Given the description of an element on the screen output the (x, y) to click on. 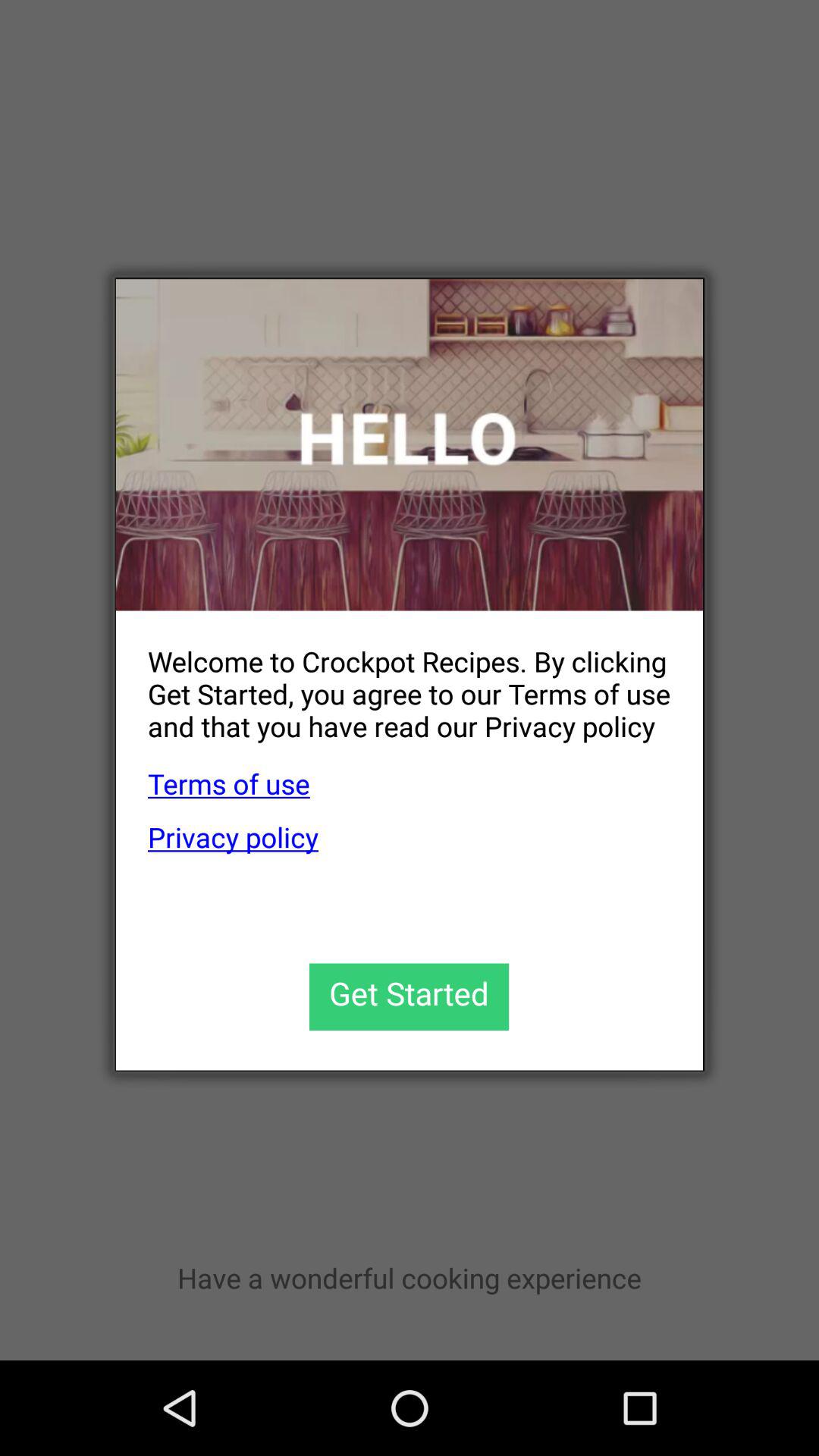
tap icon above the terms of use item (393, 681)
